Given the description of an element on the screen output the (x, y) to click on. 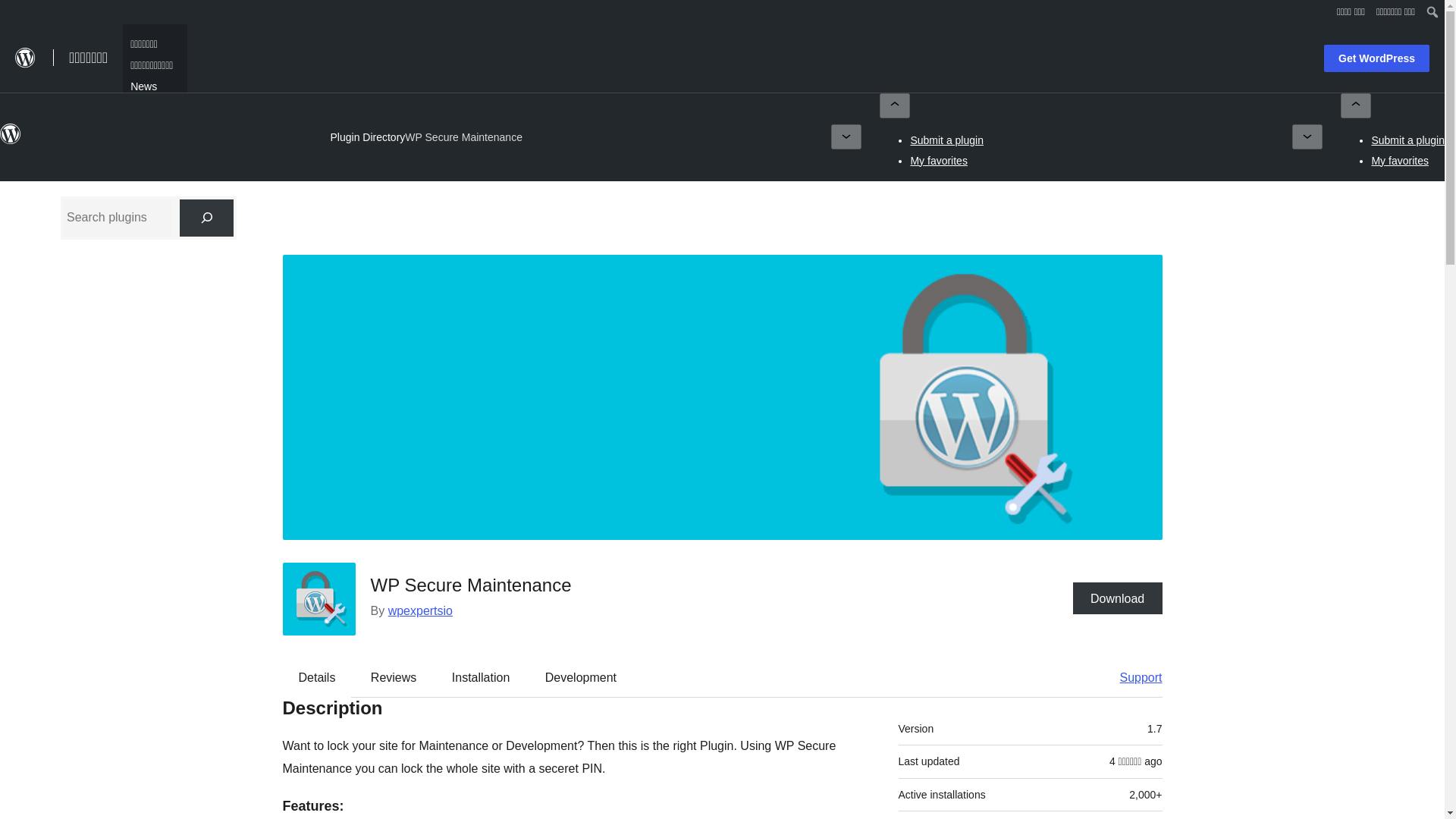
My favorites (938, 160)
Development (580, 677)
WordPress.org (10, 141)
wpexpertsio (420, 610)
News (143, 84)
Download (1117, 598)
Reviews (392, 677)
WP Secure Maintenance (463, 137)
Details (316, 677)
Submit a plugin (947, 140)
Support (1132, 677)
Installation (480, 677)
My favorites (1399, 160)
Get WordPress (1376, 58)
Plugin Directory (368, 137)
